Given the description of an element on the screen output the (x, y) to click on. 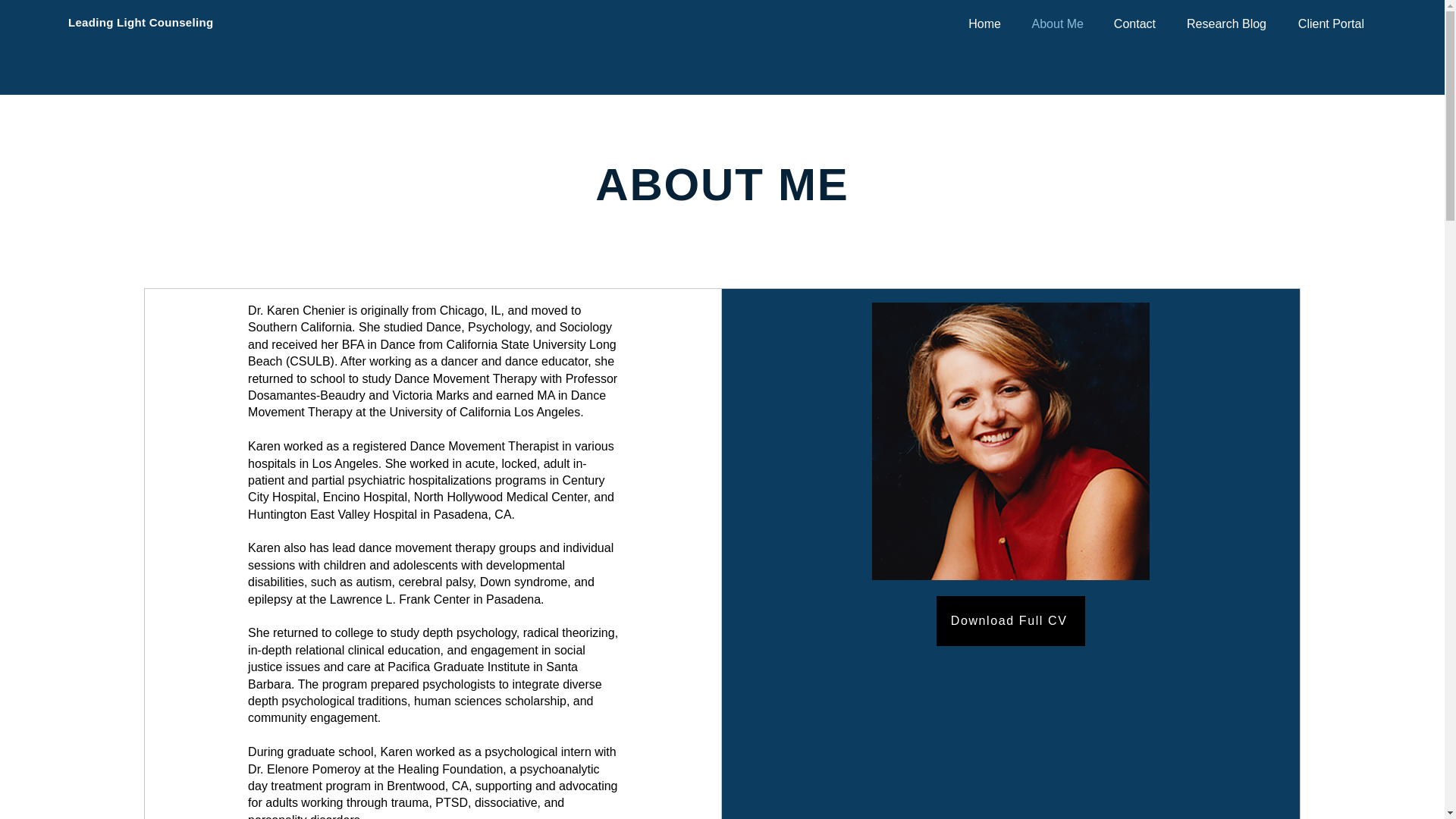
Home (981, 23)
Client Portal (1326, 23)
Research Blog (1222, 23)
About Me (1052, 23)
Contact (1130, 23)
Download Full CV (1010, 621)
Leading Light Counseling (140, 21)
